Given the description of an element on the screen output the (x, y) to click on. 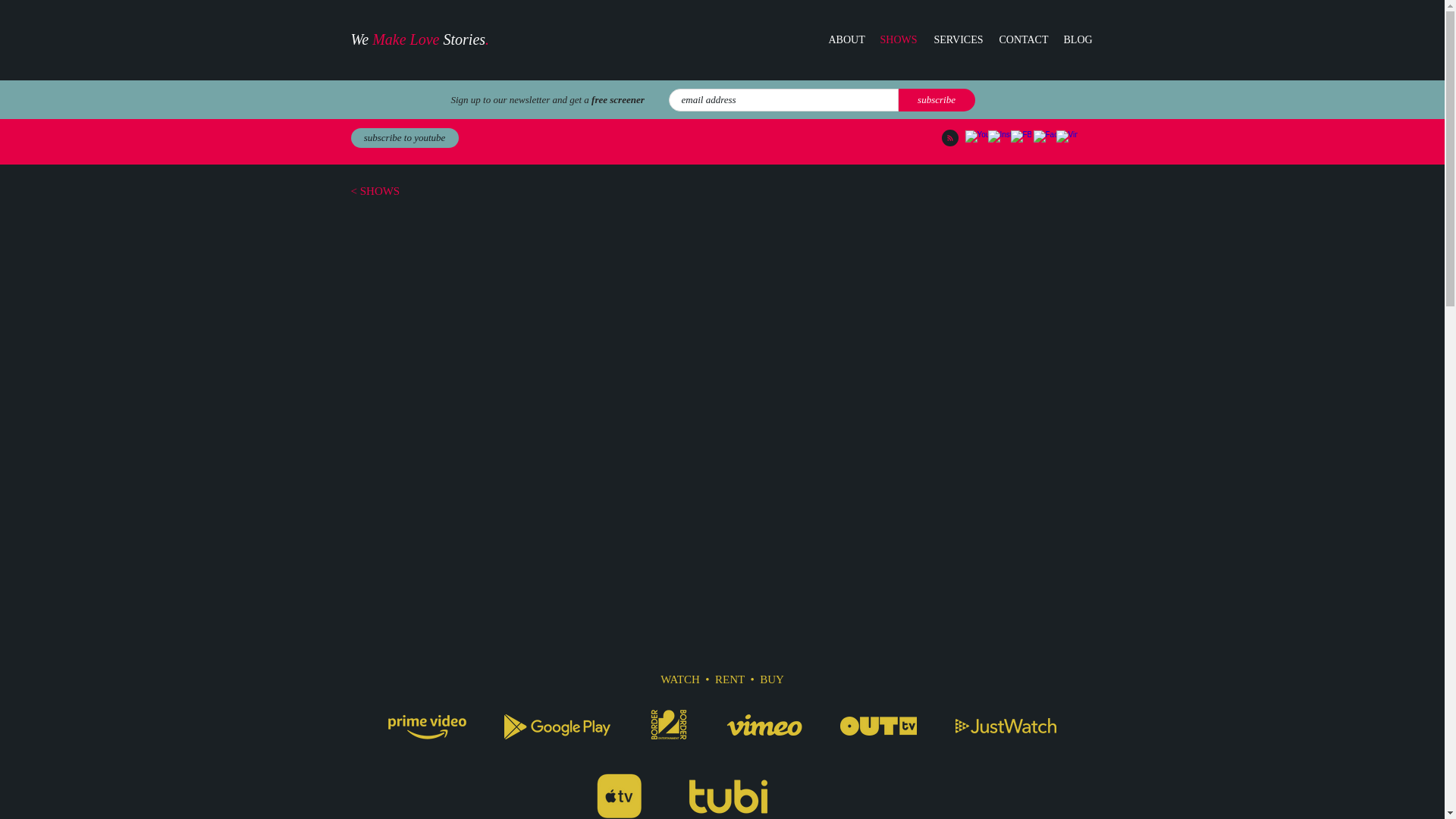
ABOUT (845, 39)
subscribe (936, 99)
SHOWS (898, 39)
BLOG (1077, 39)
CONTACT (1022, 39)
SERVICES (957, 39)
subscribe to youtube (404, 137)
